Given the description of an element on the screen output the (x, y) to click on. 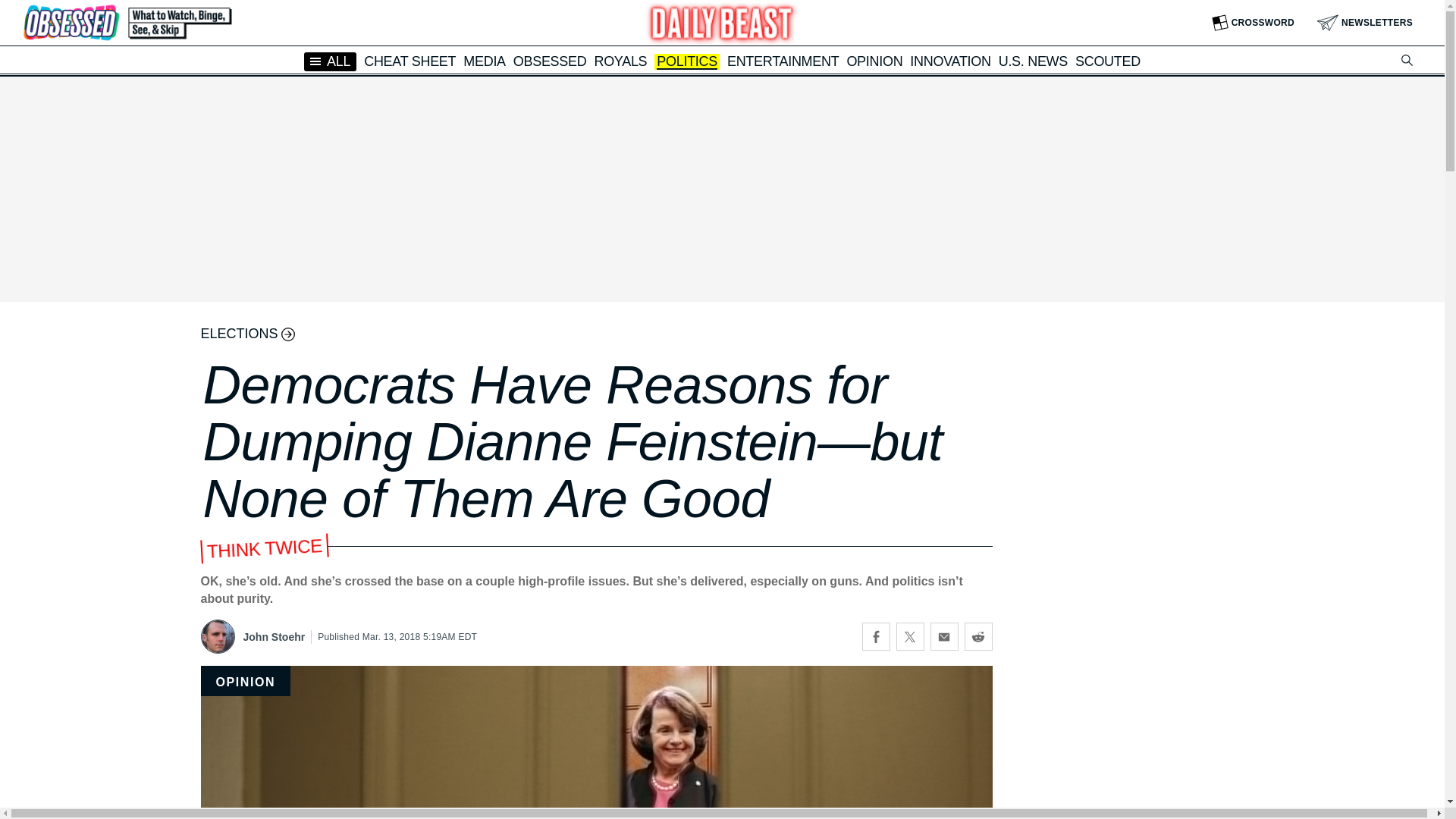
ENTERTAINMENT (782, 60)
ALL (330, 60)
POLITICS (686, 61)
OBSESSED (549, 60)
CHEAT SHEET (409, 60)
ROYALS (620, 60)
MEDIA (484, 60)
NEWSLETTERS (1364, 22)
SCOUTED (1107, 60)
CROSSWORD (1252, 22)
